Given the description of an element on the screen output the (x, y) to click on. 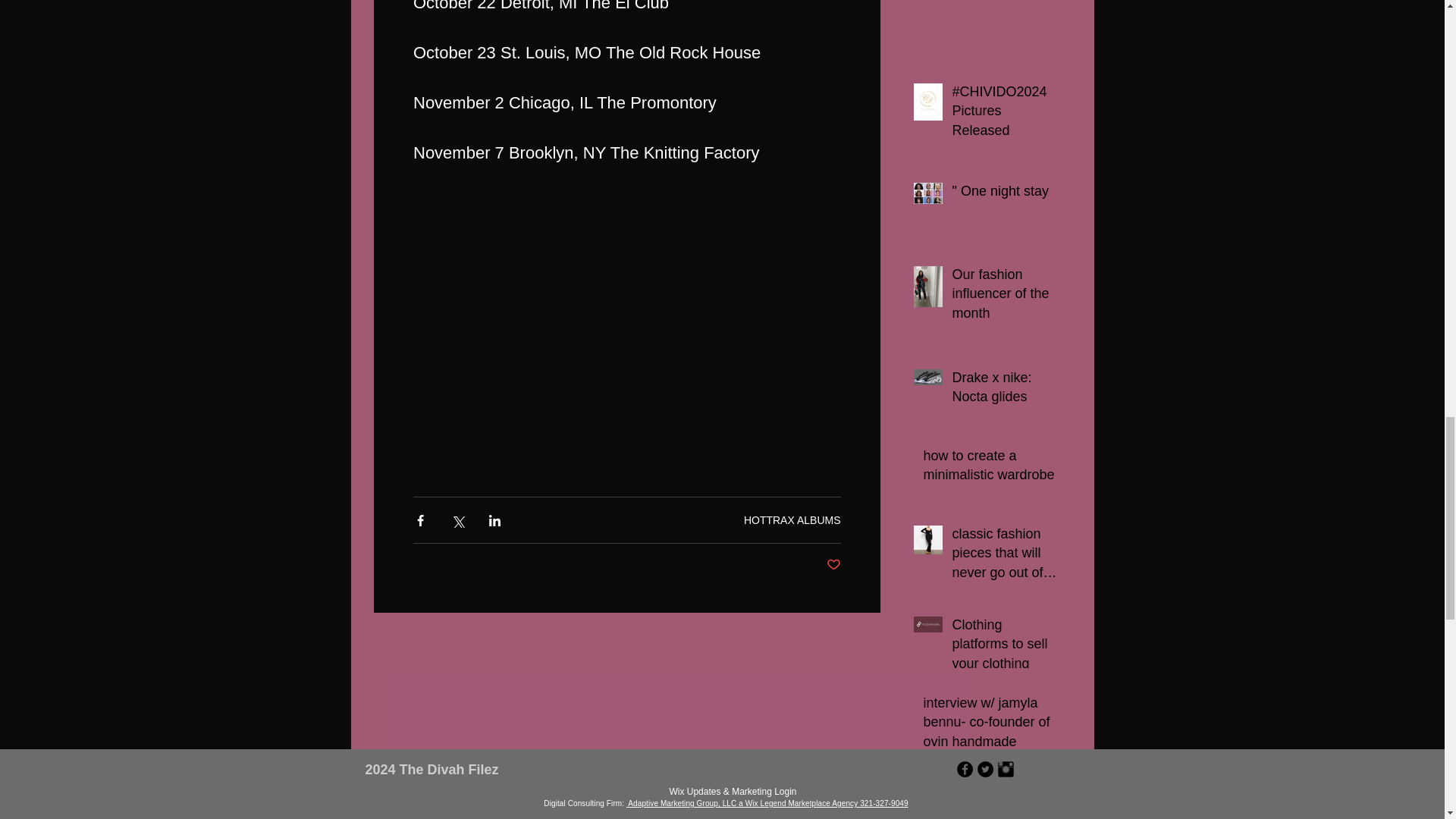
HOTTRAX ALBUMS (792, 520)
Post not marked as liked (834, 565)
